Given the description of an element on the screen output the (x, y) to click on. 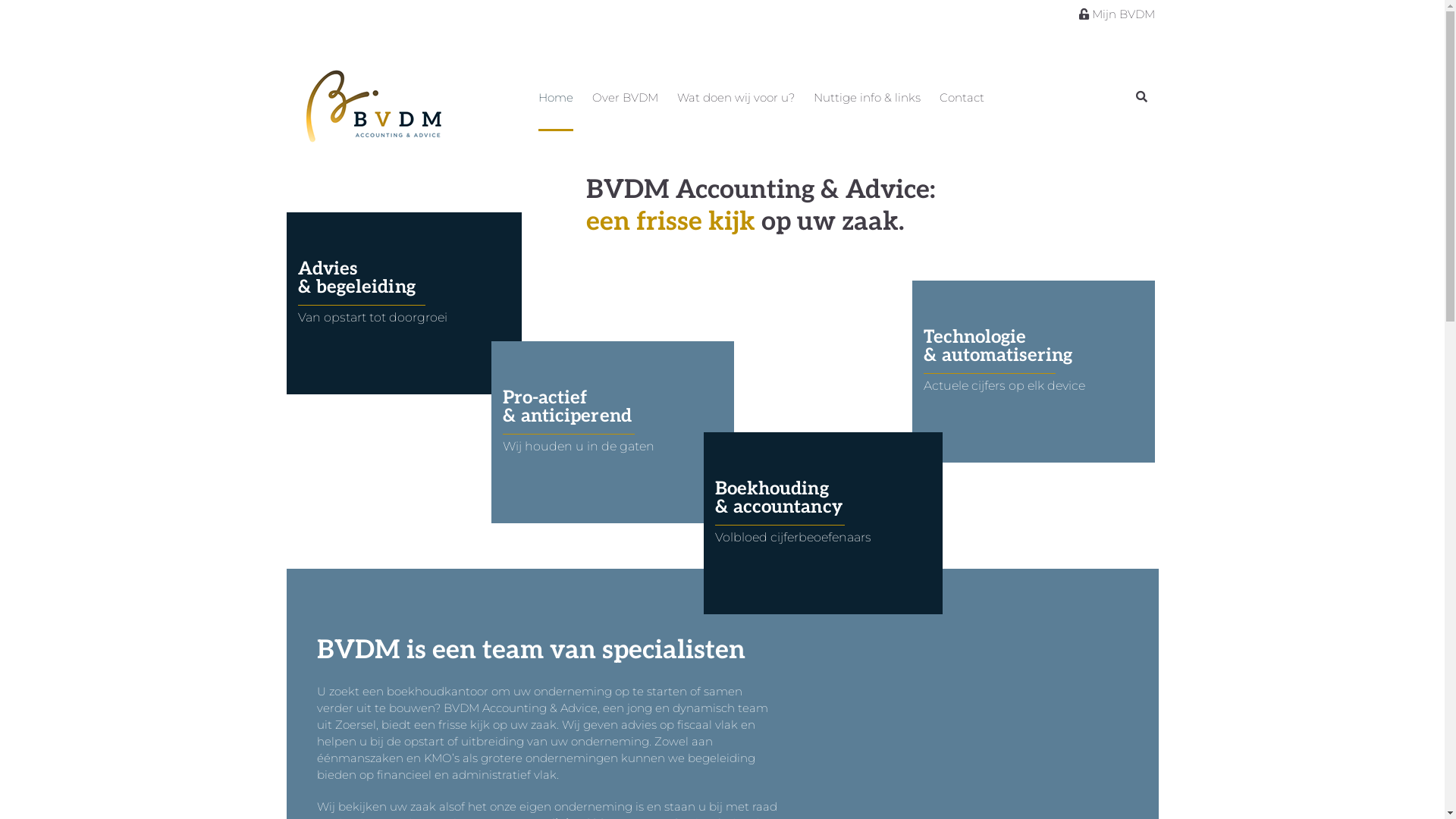
Wat doen wij voor u? Element type: text (734, 103)
BVDM Accounting & Advice Element type: hover (372, 148)
Nuttige info & links Element type: text (865, 103)
Home Element type: text (555, 103)
Over BVDM Element type: text (624, 103)
Technologie
& automatisering Element type: text (998, 346)
Wij houden u in de gaten Element type: text (577, 446)
Mijn BVDM Element type: text (1123, 13)
Van opstart tot doorgroei Element type: text (371, 317)
Volbloed cijferbeoefenaars Element type: text (792, 537)
Actuele cijfers op elk device Element type: text (1004, 385)
Pro-actief
& anticiperend Element type: text (566, 406)
Contact Element type: text (960, 103)
Advies
& begeleiding Element type: text (355, 277)
Boekhouding
& accountancy Element type: text (777, 497)
